Given the description of an element on the screen output the (x, y) to click on. 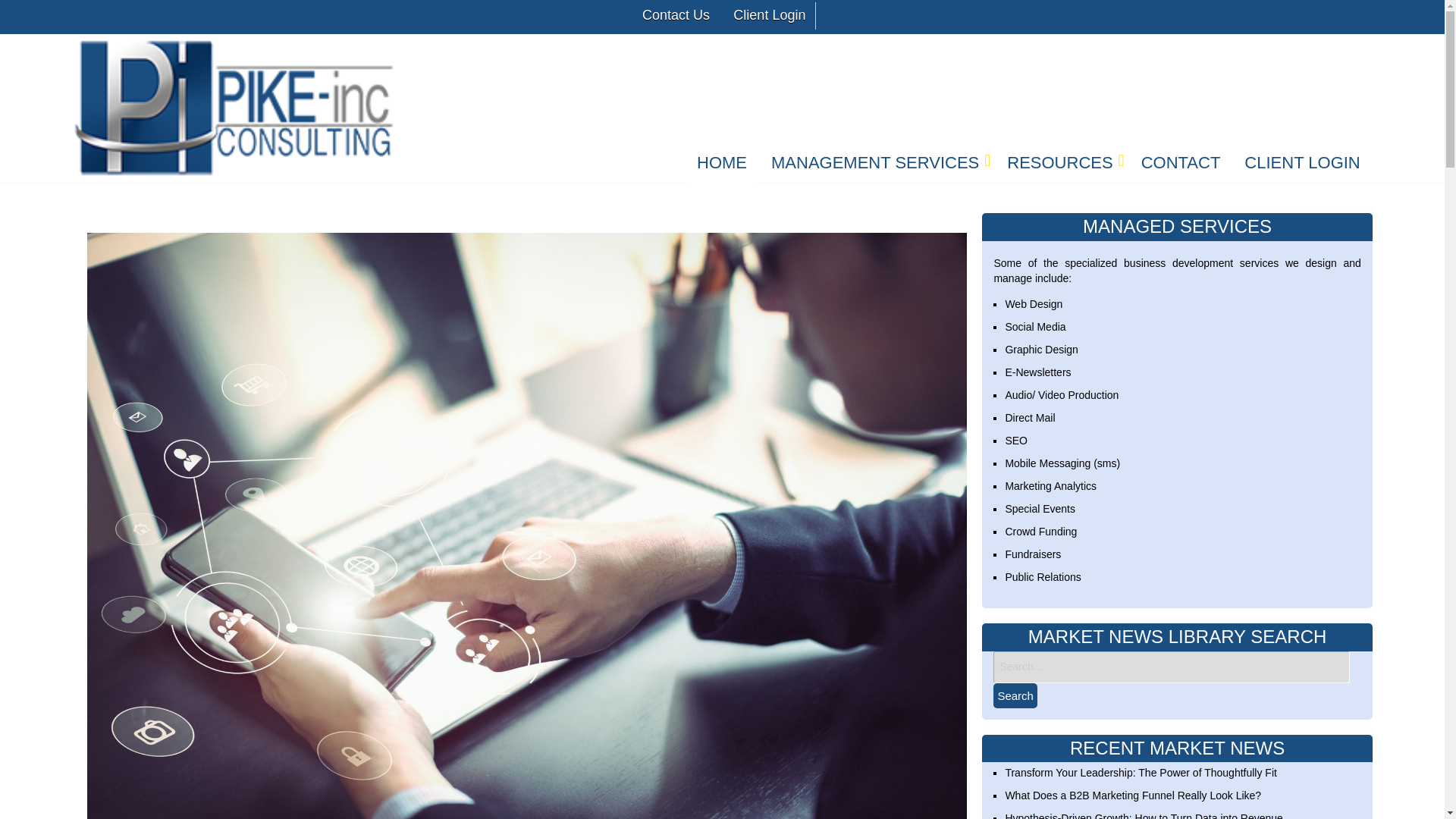
HOME (721, 164)
Contact Us (673, 15)
Client Login (767, 15)
Hypothesis-Driven Growth: How to Turn Data into Revenue (1143, 815)
RESOURCES (1060, 164)
Transform Your Leadership: The Power of Thoughtfully Fit (1140, 772)
CONTACT (1180, 164)
What Does a B2B Marketing Funnel Really Look Like? (1132, 795)
MANAGEMENT SERVICES (877, 164)
Search (1014, 695)
CLIENT LOGIN (1302, 164)
Search (1014, 695)
